Given the description of an element on the screen output the (x, y) to click on. 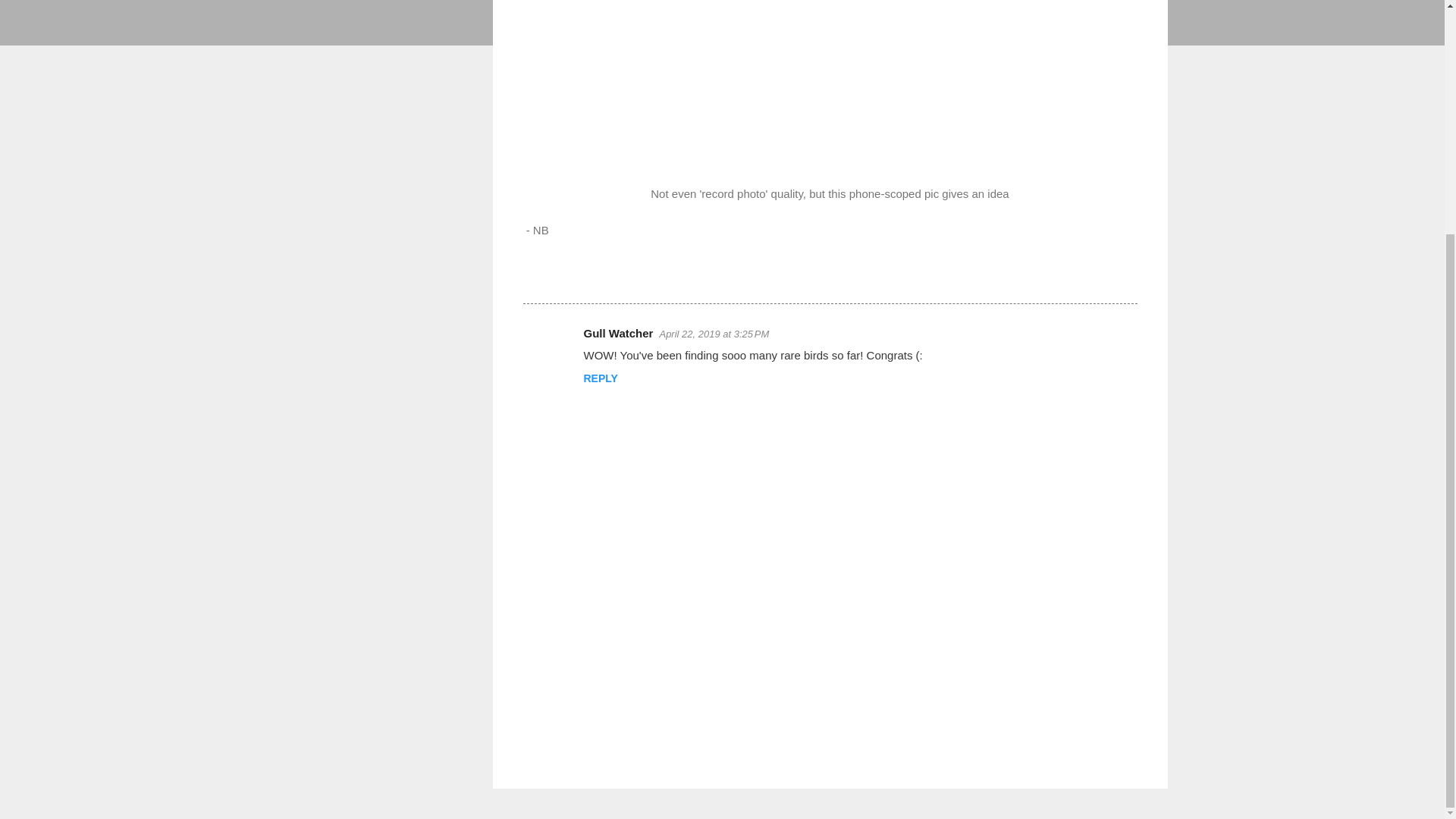
Gull Watcher (618, 332)
REPLY (600, 378)
